Given the description of an element on the screen output the (x, y) to click on. 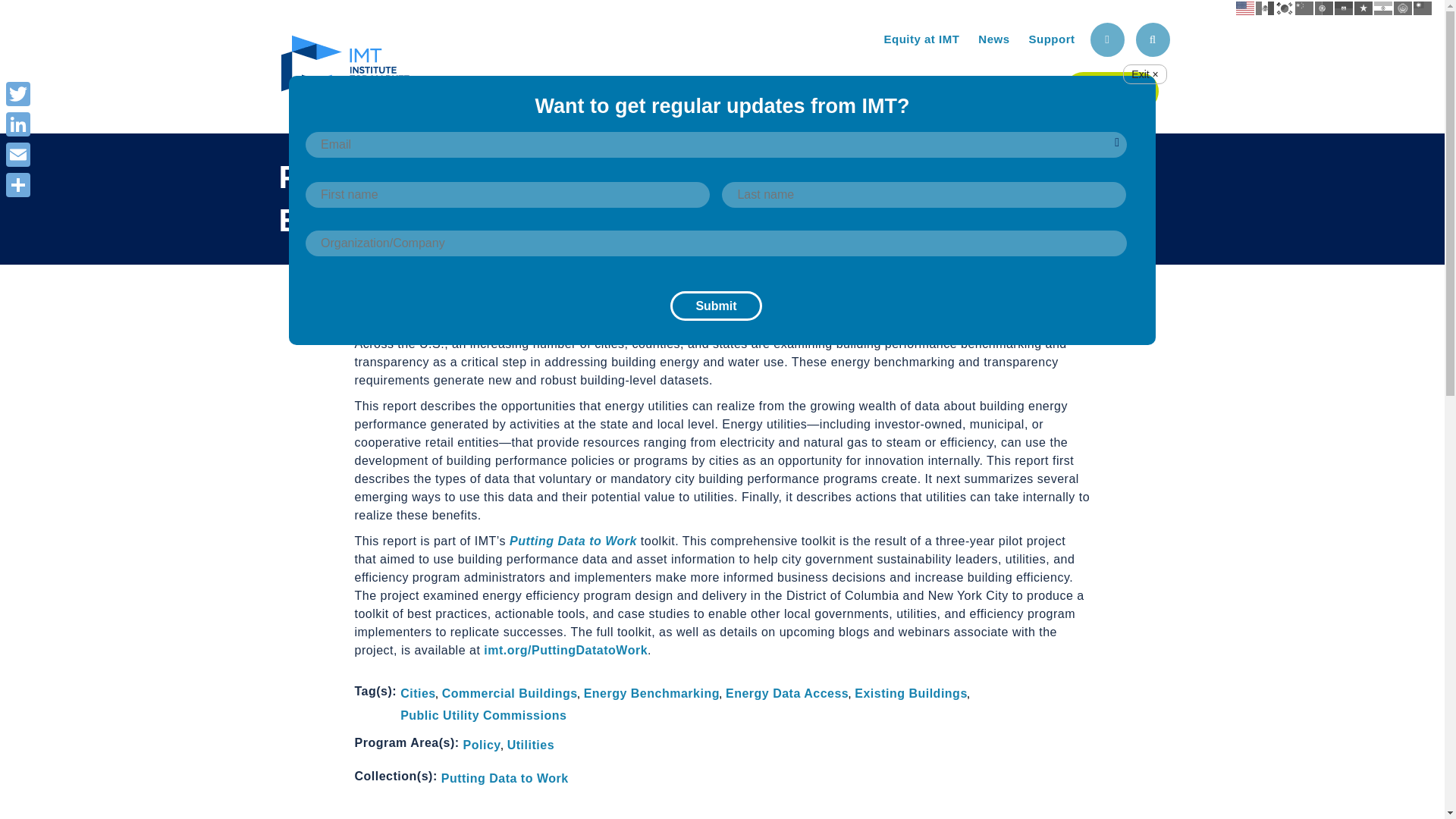
Search (1152, 39)
LinkedIn (17, 123)
About Us (687, 87)
Resource Library (972, 87)
Email (17, 154)
News (993, 39)
Submit (715, 306)
Kreyol ayisyen (1344, 6)
Twitter (17, 93)
Our Programs (816, 87)
Equity at IMT (920, 39)
Support (1051, 39)
English (1245, 6)
